Given the description of an element on the screen output the (x, y) to click on. 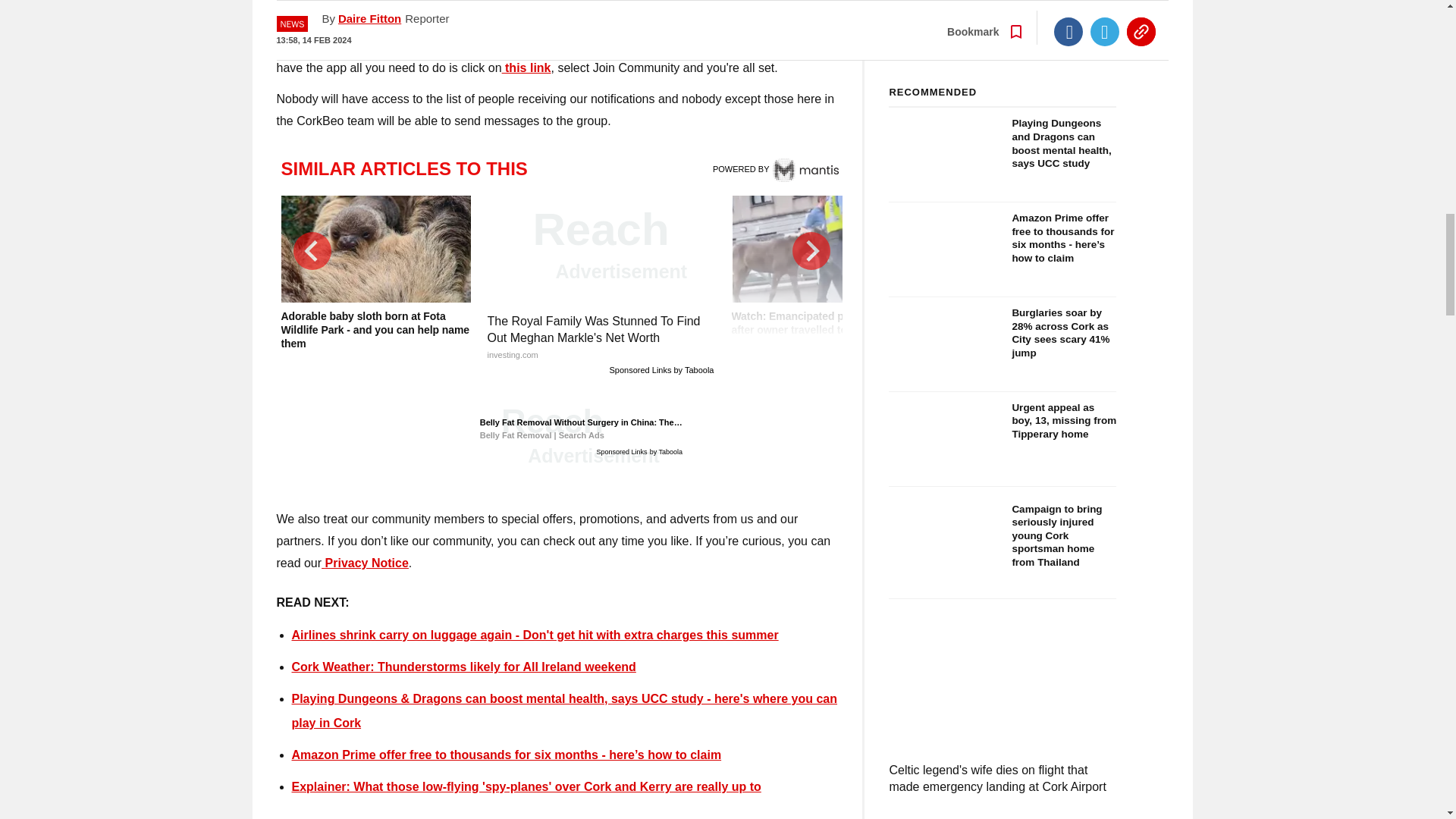
Investing In Canada Is An Easy Way To Make Thousands Quickly (557, 12)
